Given the description of an element on the screen output the (x, y) to click on. 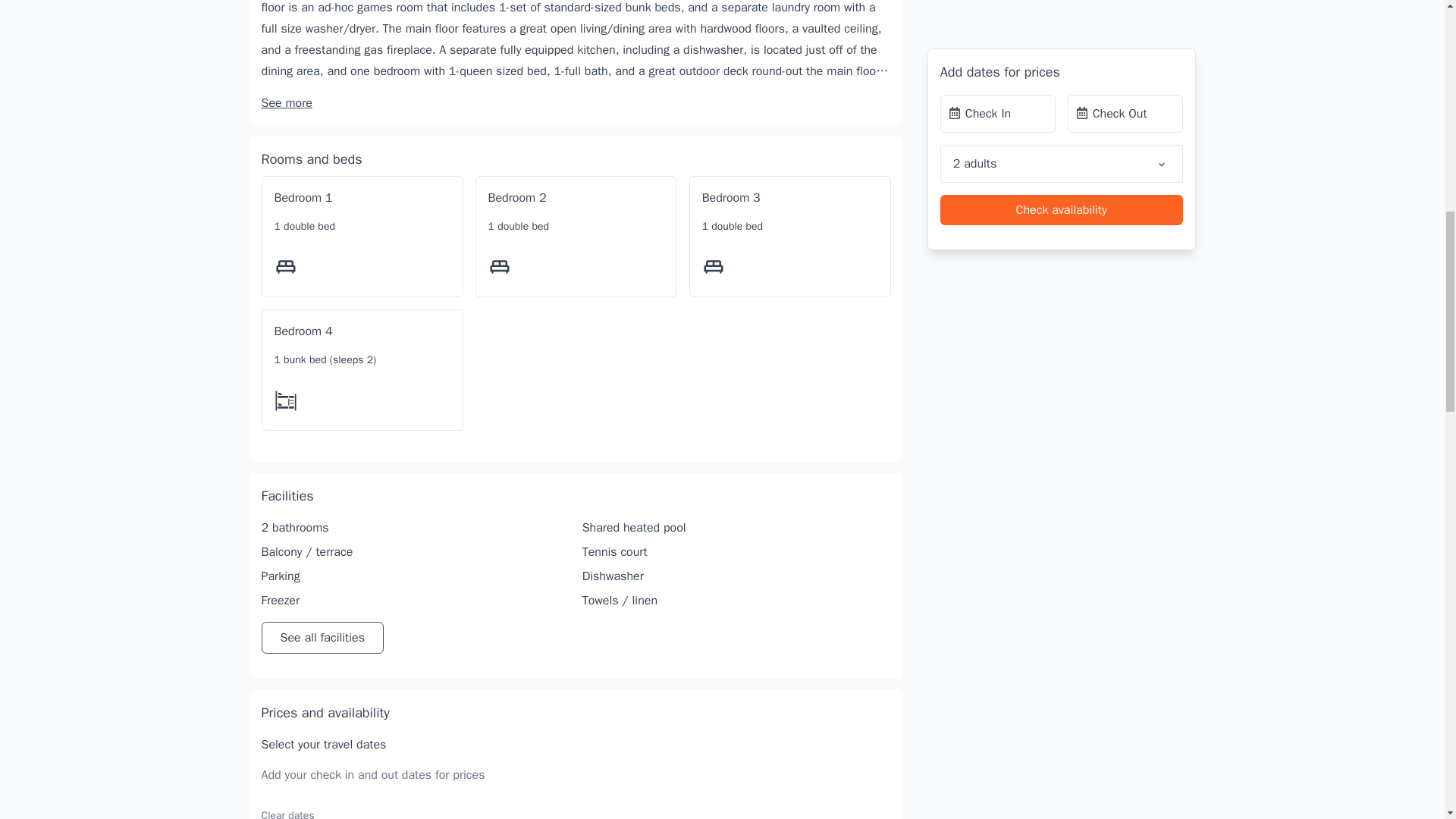
See more (285, 102)
Clear dates (287, 813)
